Given the description of an element on the screen output the (x, y) to click on. 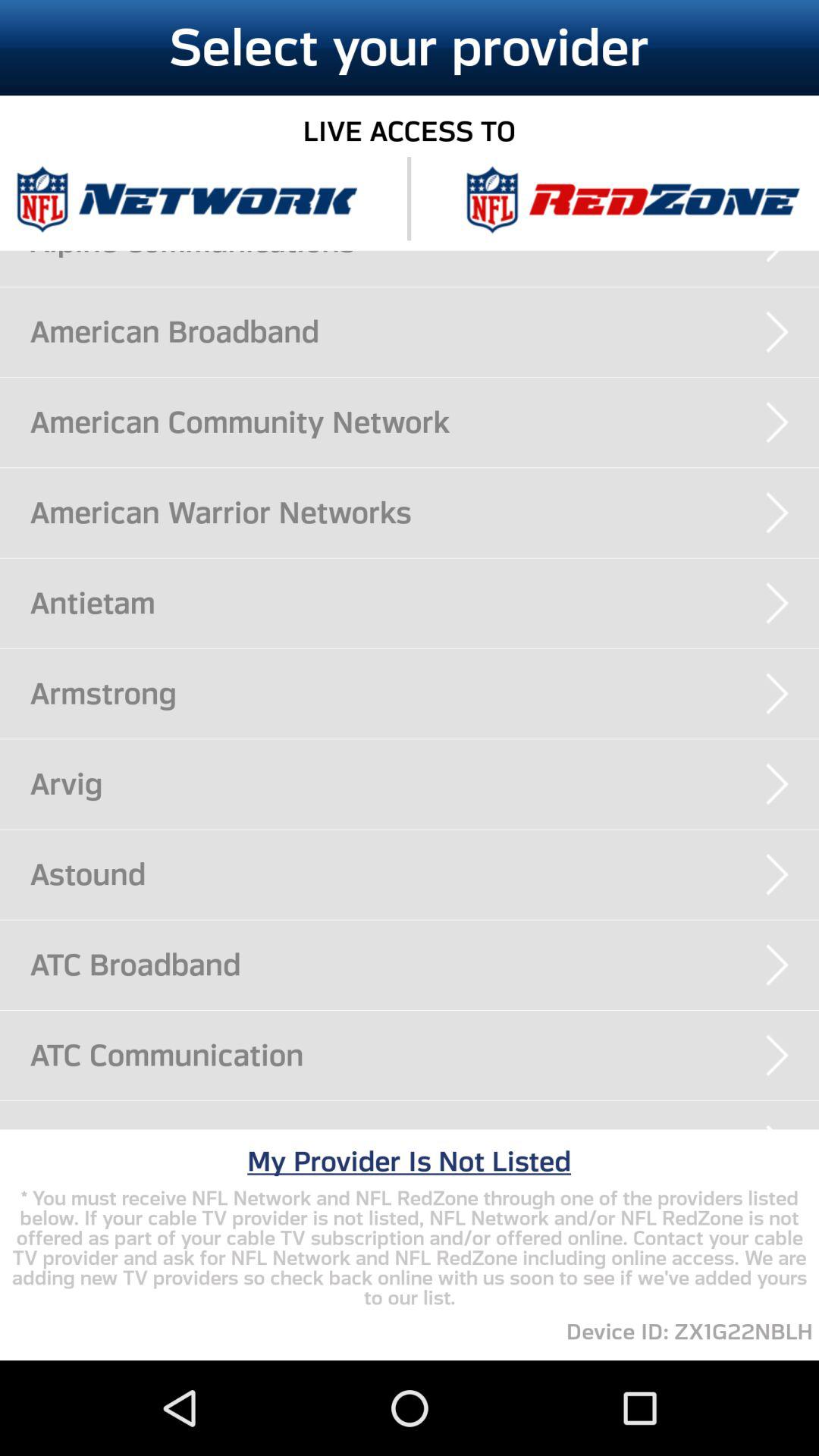
swipe to atc broadband app (424, 964)
